Given the description of an element on the screen output the (x, y) to click on. 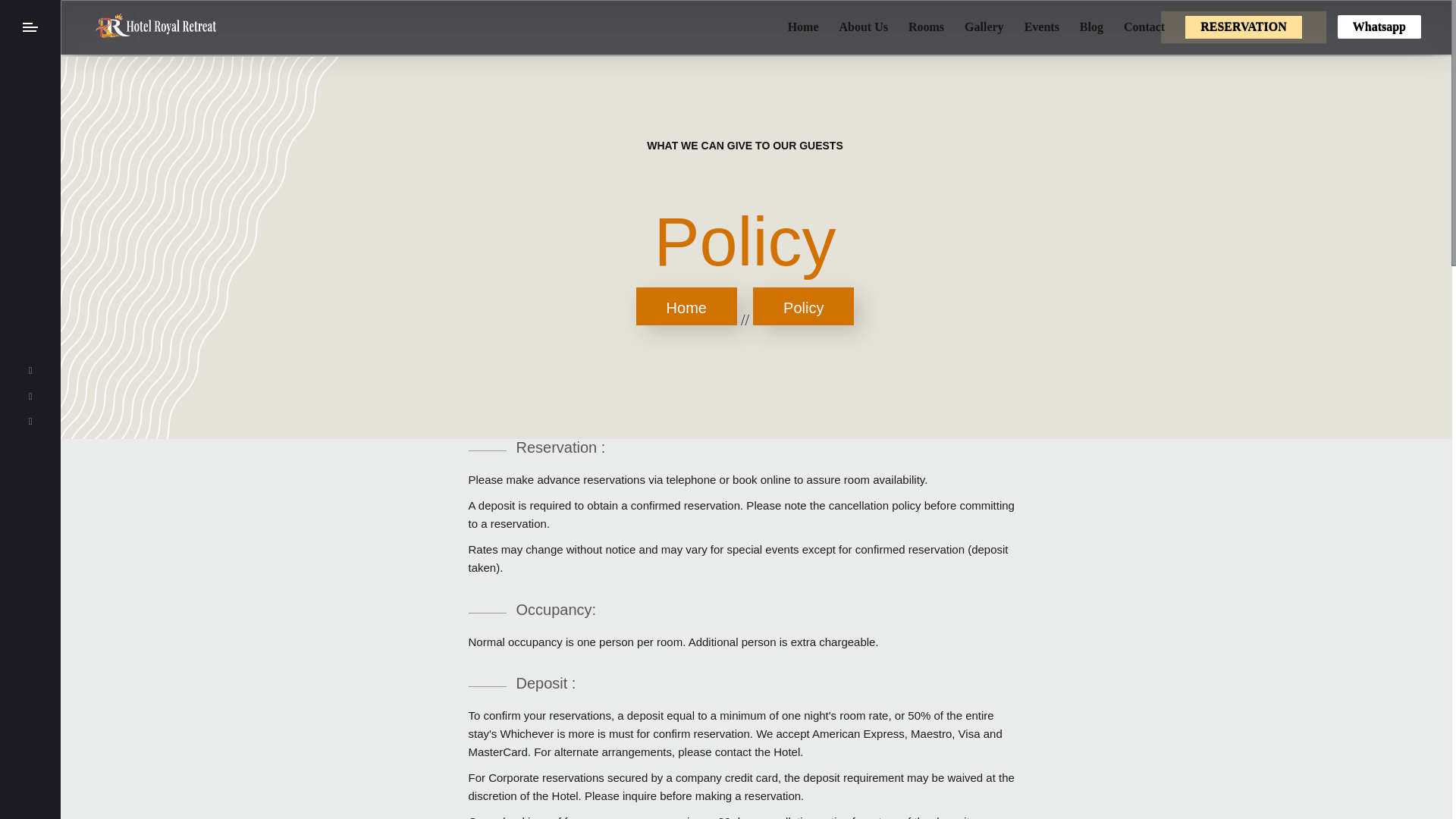
Contact (1144, 26)
Events (1042, 26)
Blog (1091, 26)
Rooms (925, 26)
Home (686, 306)
Policy (802, 306)
Home (802, 26)
About Us (862, 26)
RESERVATION (1243, 26)
Whatsapp (1379, 26)
Gallery (983, 26)
